Given the description of an element on the screen output the (x, y) to click on. 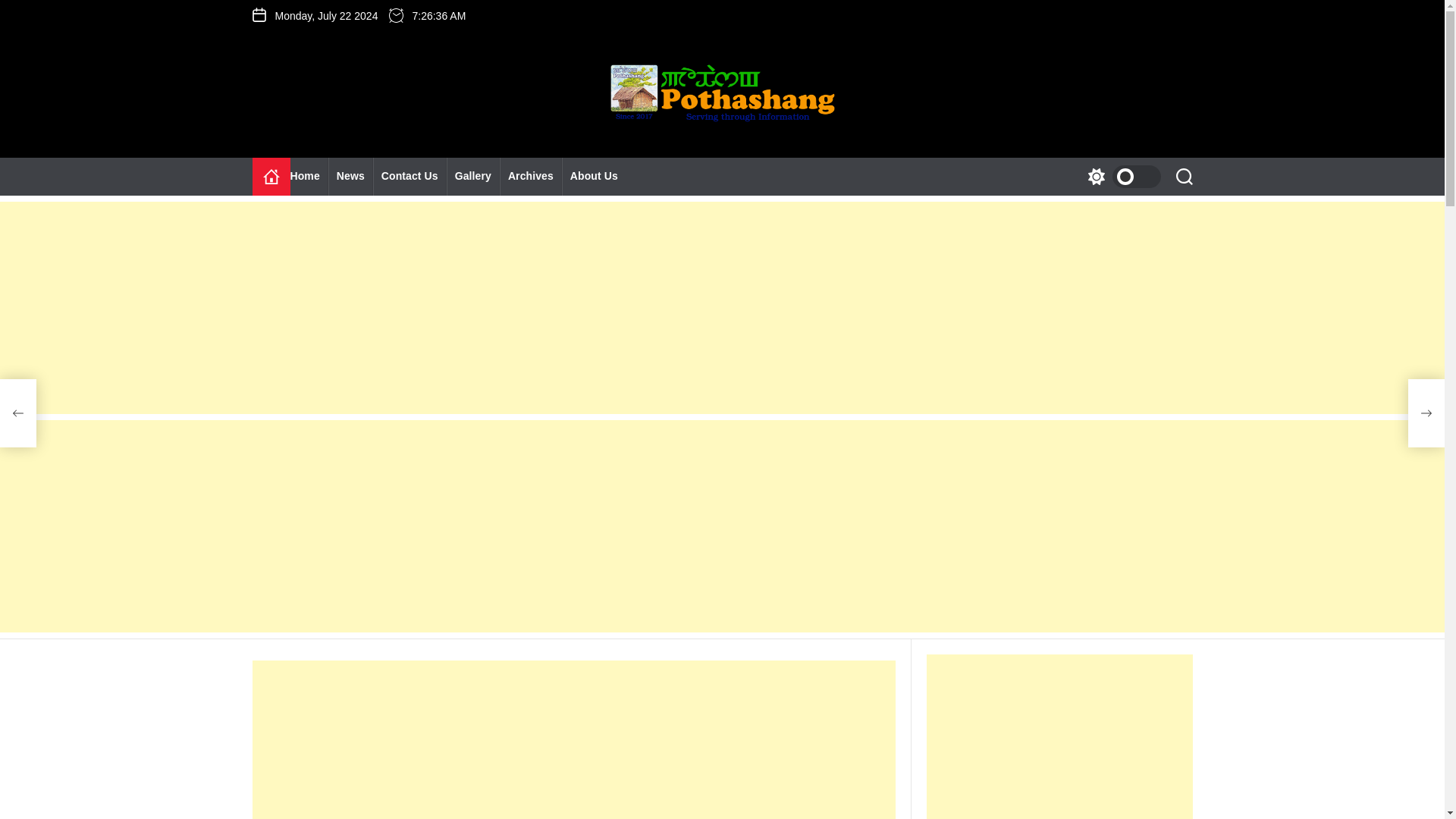
About Us (594, 176)
News (350, 176)
Gallery (472, 176)
Home (308, 176)
Contact Us (409, 176)
Advertisement (573, 739)
Switch color mode (1120, 176)
Archives (530, 176)
